Given the description of an element on the screen output the (x, y) to click on. 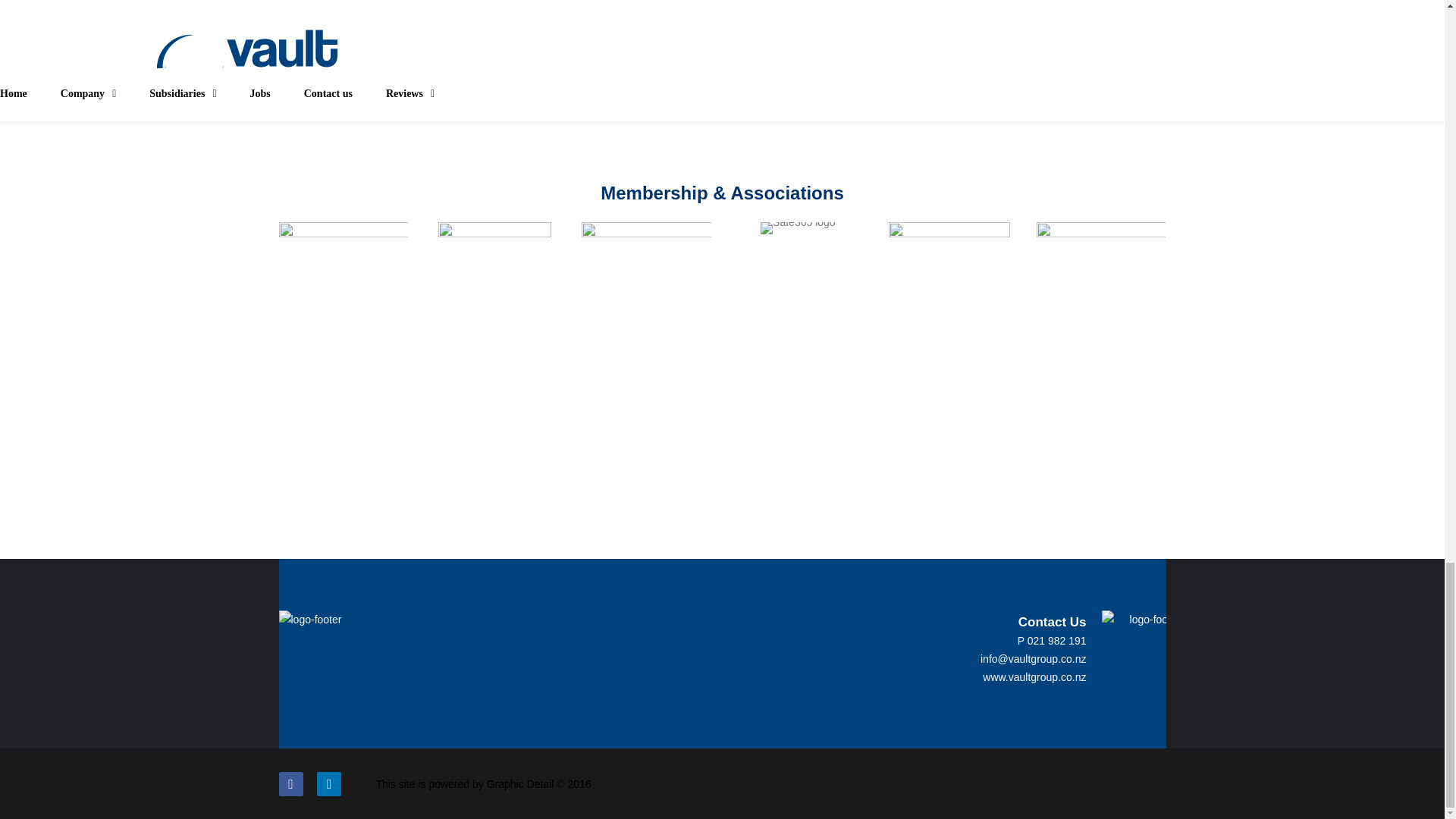
Submit (639, 87)
chamber (645, 242)
promed (949, 252)
P 021 982 191 (1051, 640)
Graphic Detail (520, 784)
emma (494, 238)
Safe365 logo (797, 227)
ministry (1101, 244)
www.vaultgroup.co.nz (1034, 676)
SiteSafe (344, 239)
